Given the description of an element on the screen output the (x, y) to click on. 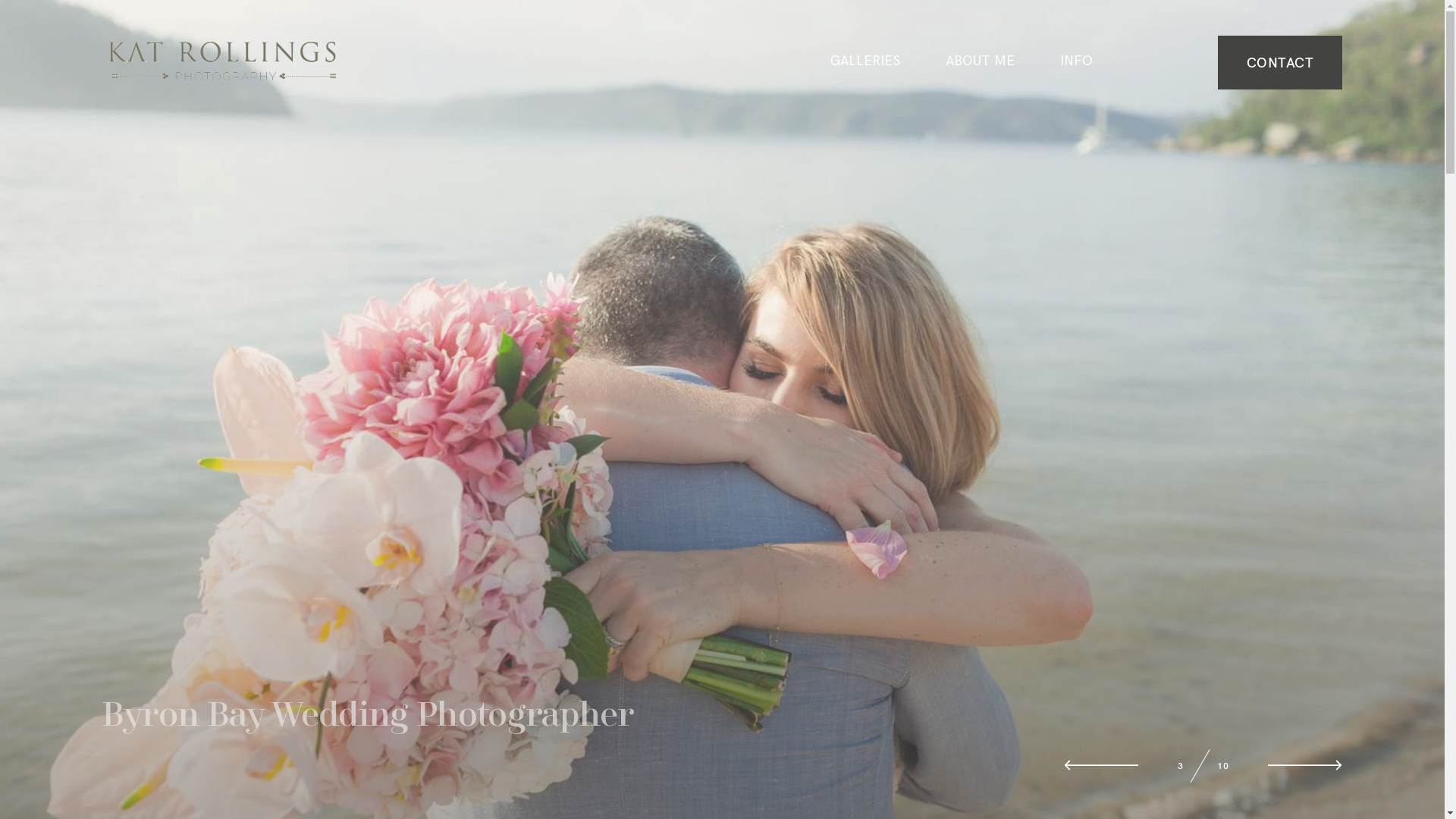
INFO Element type: text (1076, 61)
ABOUT ME Element type: text (979, 61)
CONTACT Element type: text (1279, 62)
GALLERIES Element type: text (865, 61)
